Given the description of an element on the screen output the (x, y) to click on. 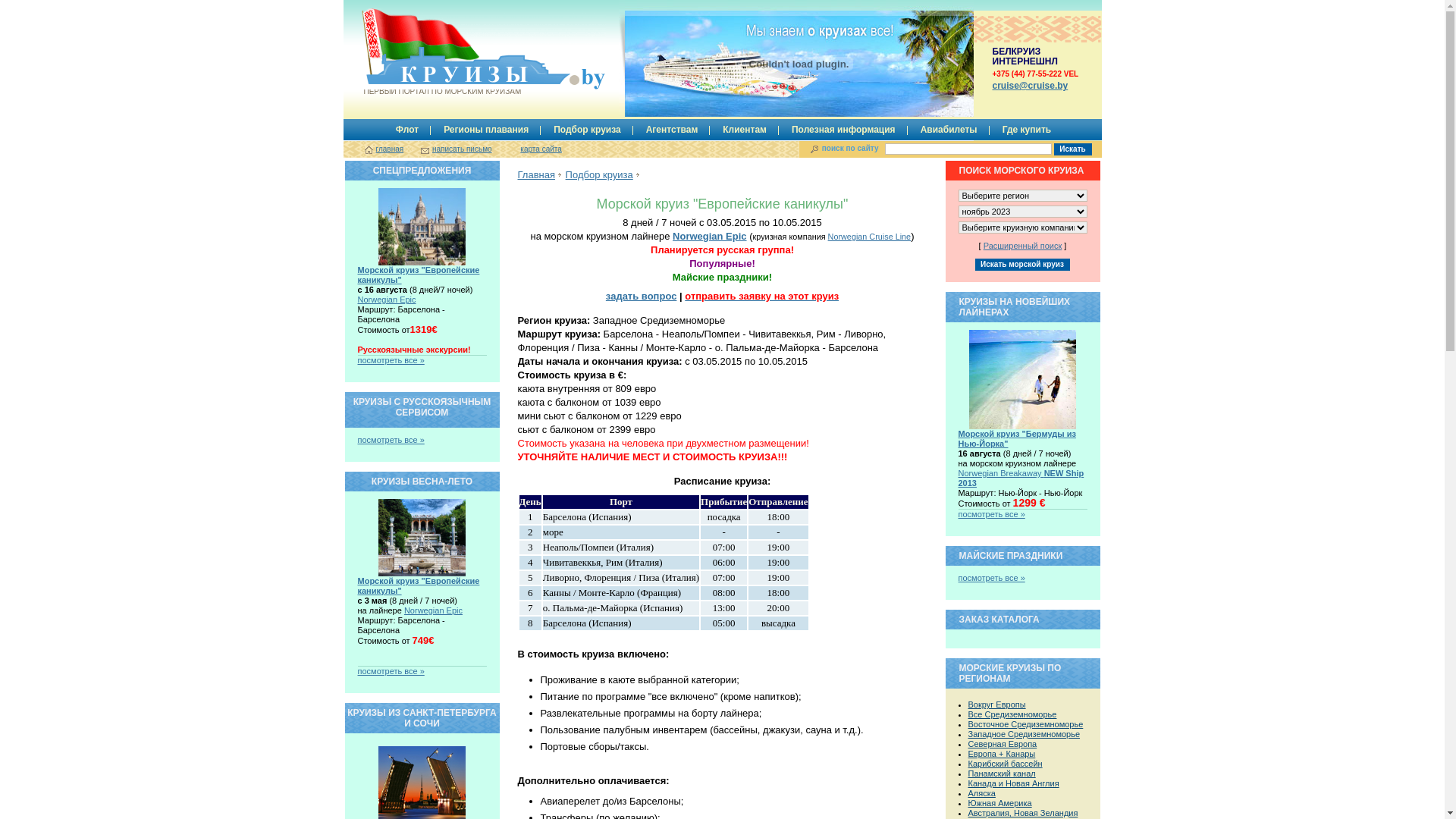
Norwegian Breakaway NEW Ship 2013 Element type: text (1021, 477)
Norwegian Cruise Line Element type: text (869, 236)
Norwegian Epic Element type: text (386, 299)
Norwegian Epic Element type: text (433, 610)
Norwegian Epic Element type: text (709, 235)
